Given the description of an element on the screen output the (x, y) to click on. 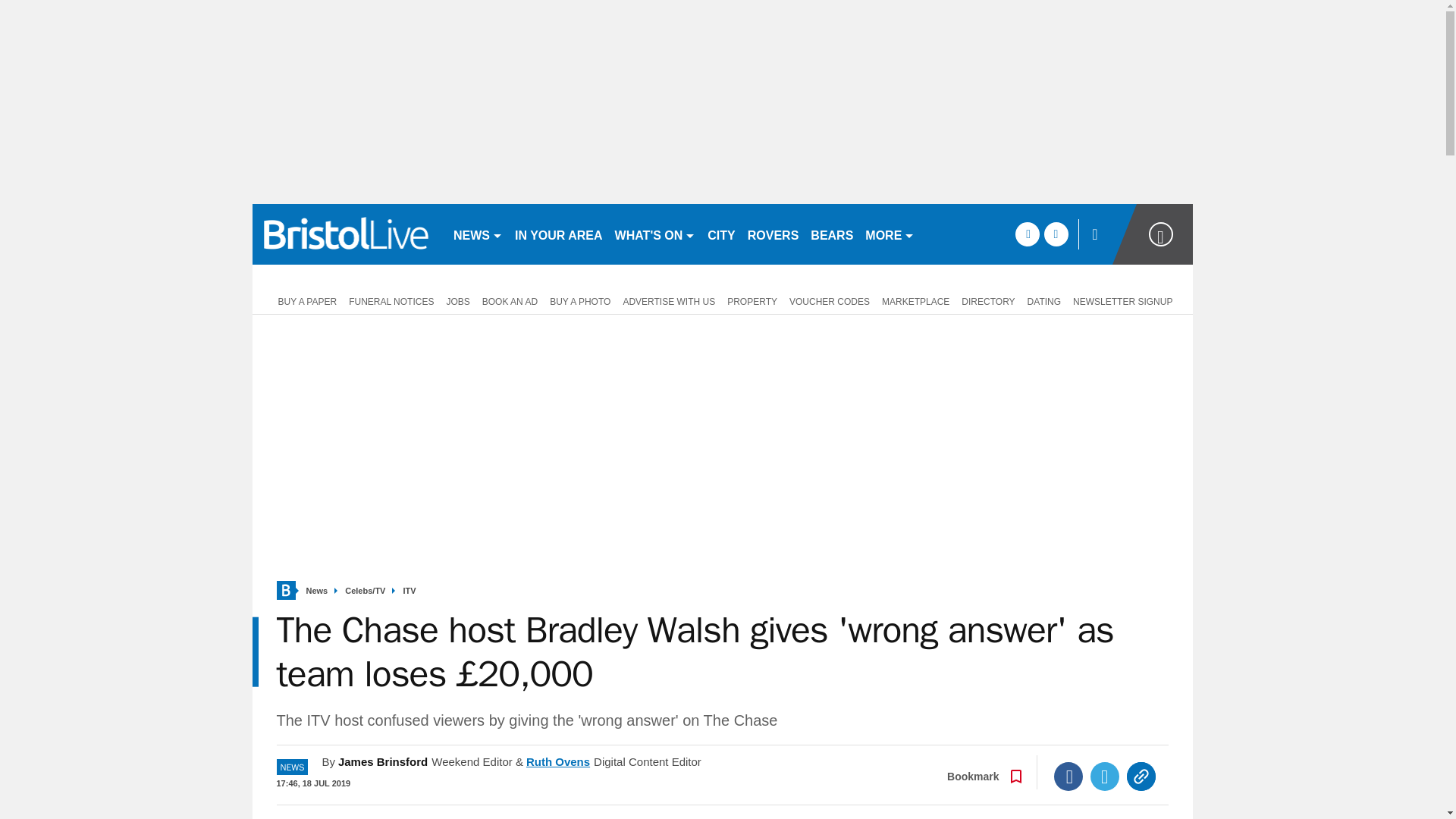
Twitter (1104, 776)
NEWS (477, 233)
Facebook (1068, 776)
facebook (1026, 233)
IN YOUR AREA (558, 233)
WHAT'S ON (654, 233)
MORE (889, 233)
twitter (1055, 233)
BEARS (832, 233)
bristolpost (345, 233)
ROVERS (773, 233)
